Given the description of an element on the screen output the (x, y) to click on. 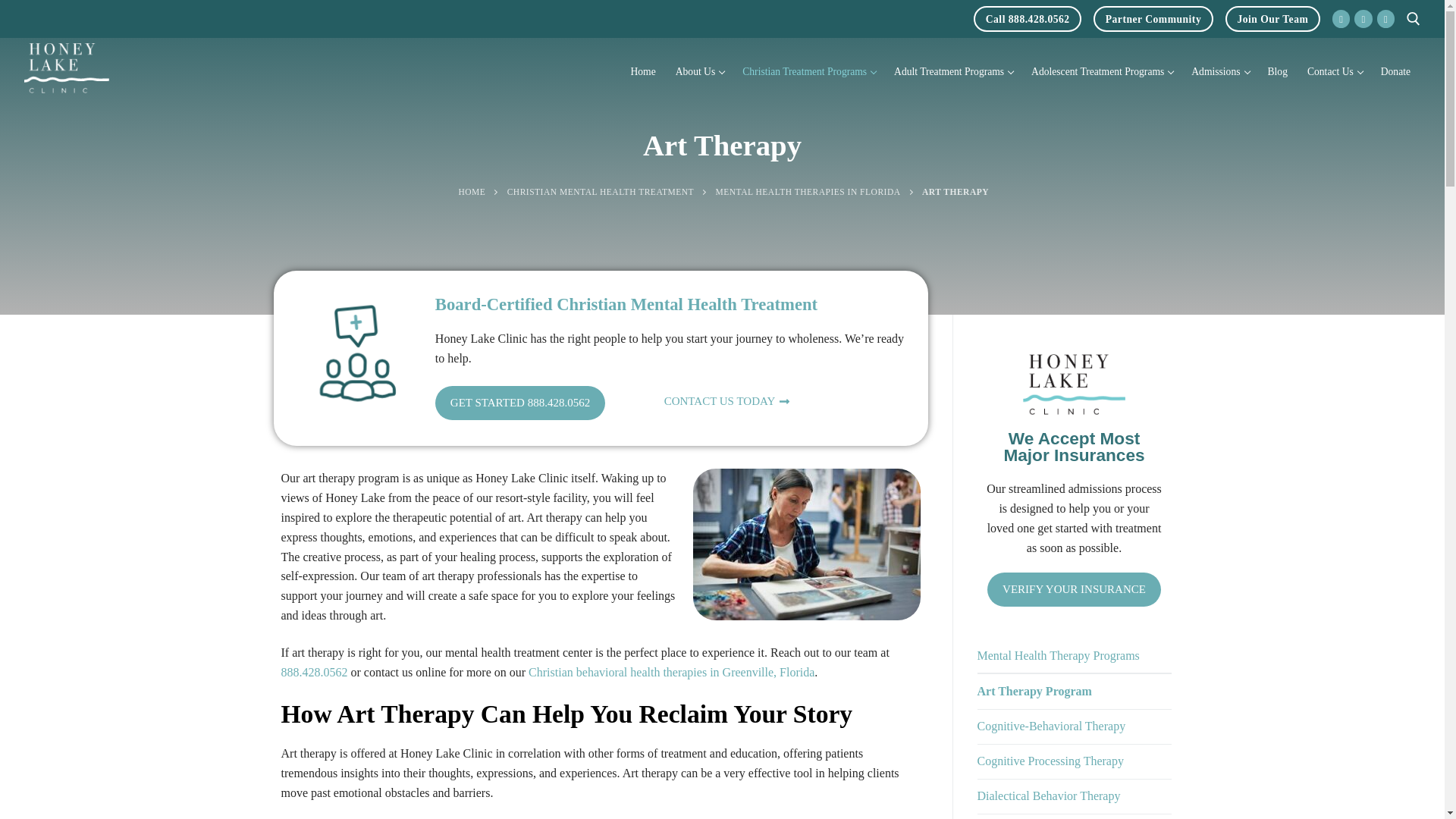
Partner Community (699, 71)
Home (1152, 18)
Join Our Team (642, 71)
Facebook (1272, 18)
Call 888.428.0562 (1340, 18)
LinkedIn (1027, 18)
Instagram (1385, 18)
Hlc Logo (1363, 18)
